Given the description of an element on the screen output the (x, y) to click on. 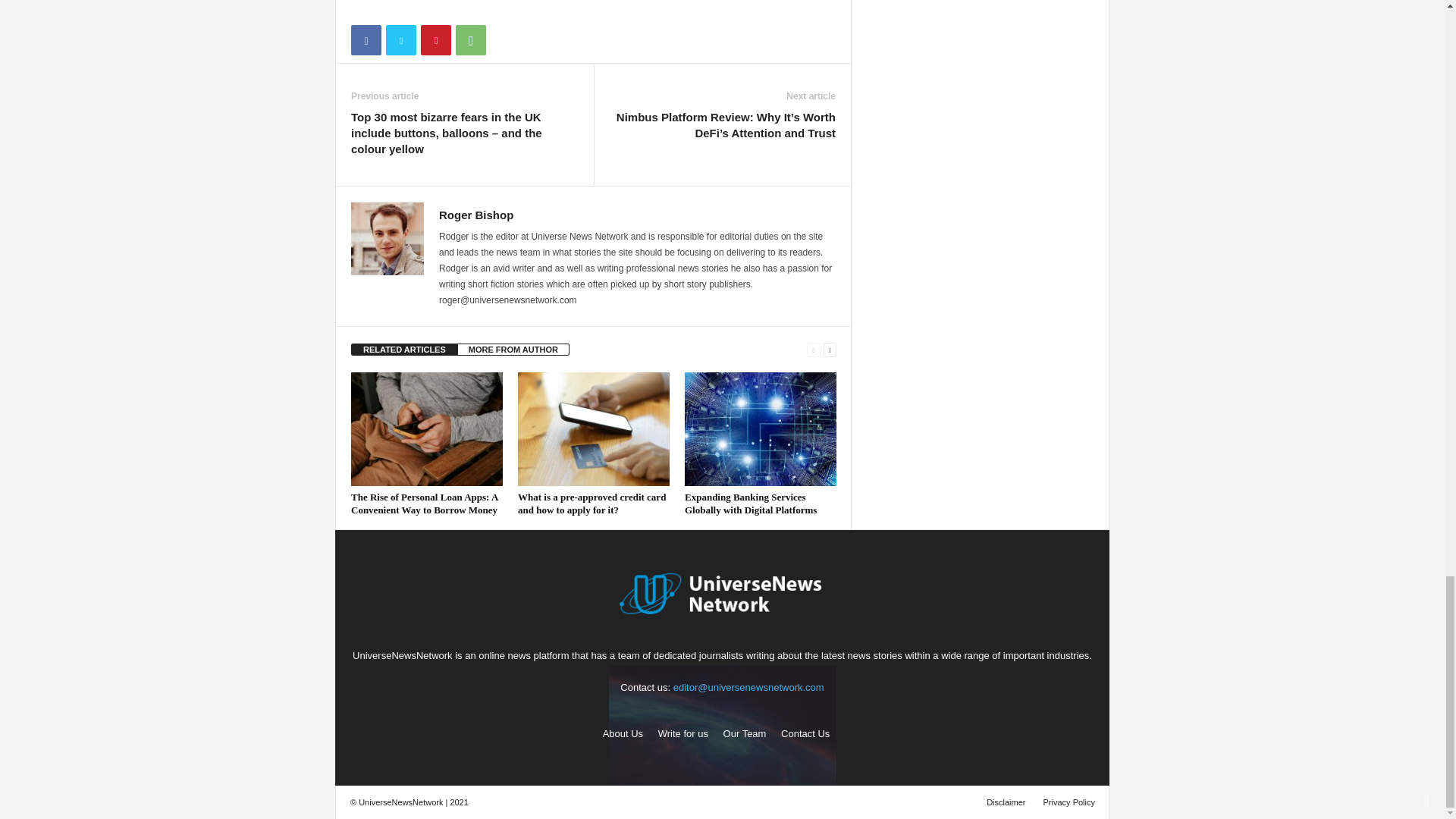
bottomFacebookLike (390, 10)
Twitter (400, 40)
Facebook (365, 40)
Roger Bishop (476, 214)
Pinterest (435, 40)
